Given the description of an element on the screen output the (x, y) to click on. 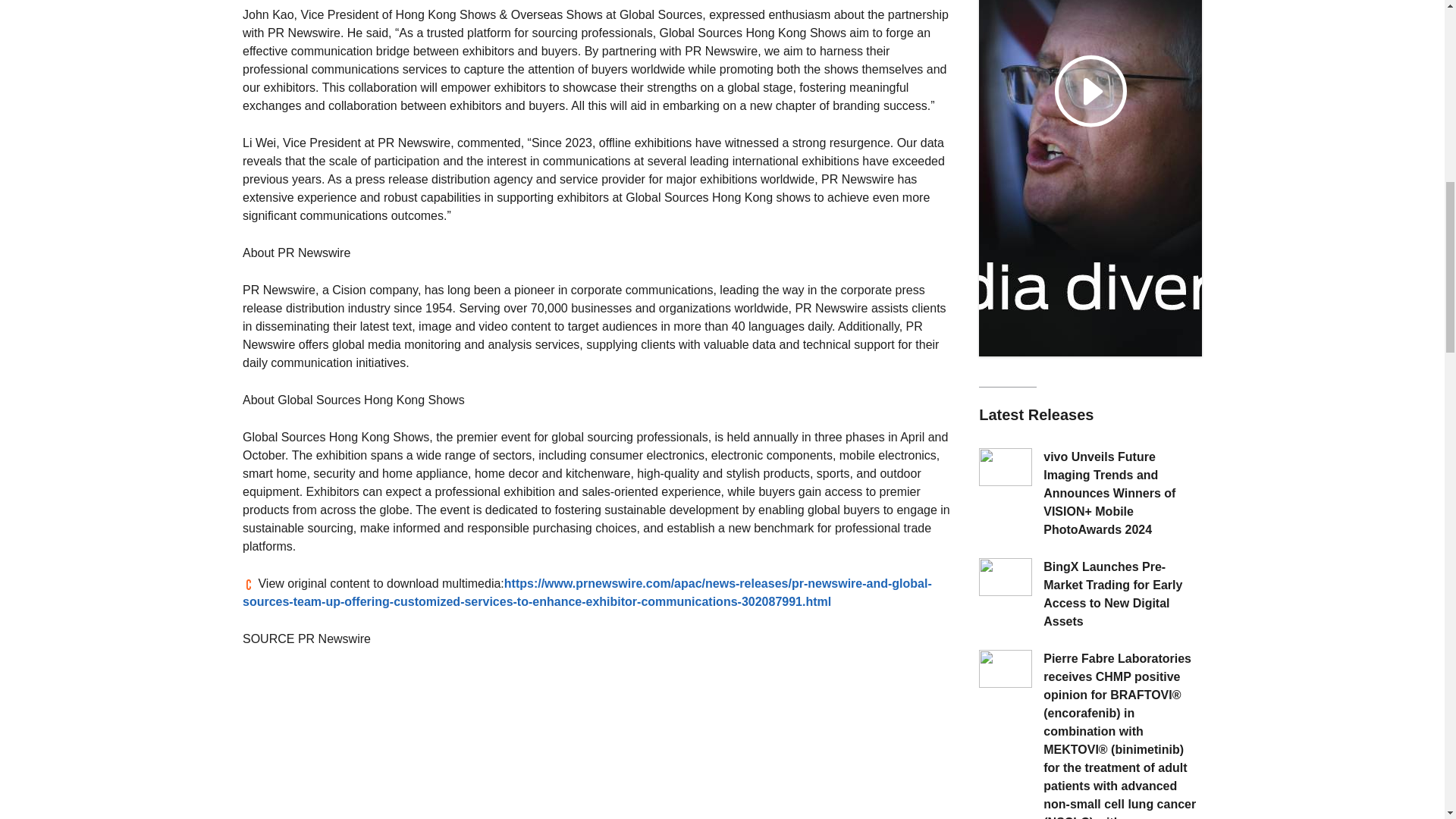
Cision (248, 584)
